Given the description of an element on the screen output the (x, y) to click on. 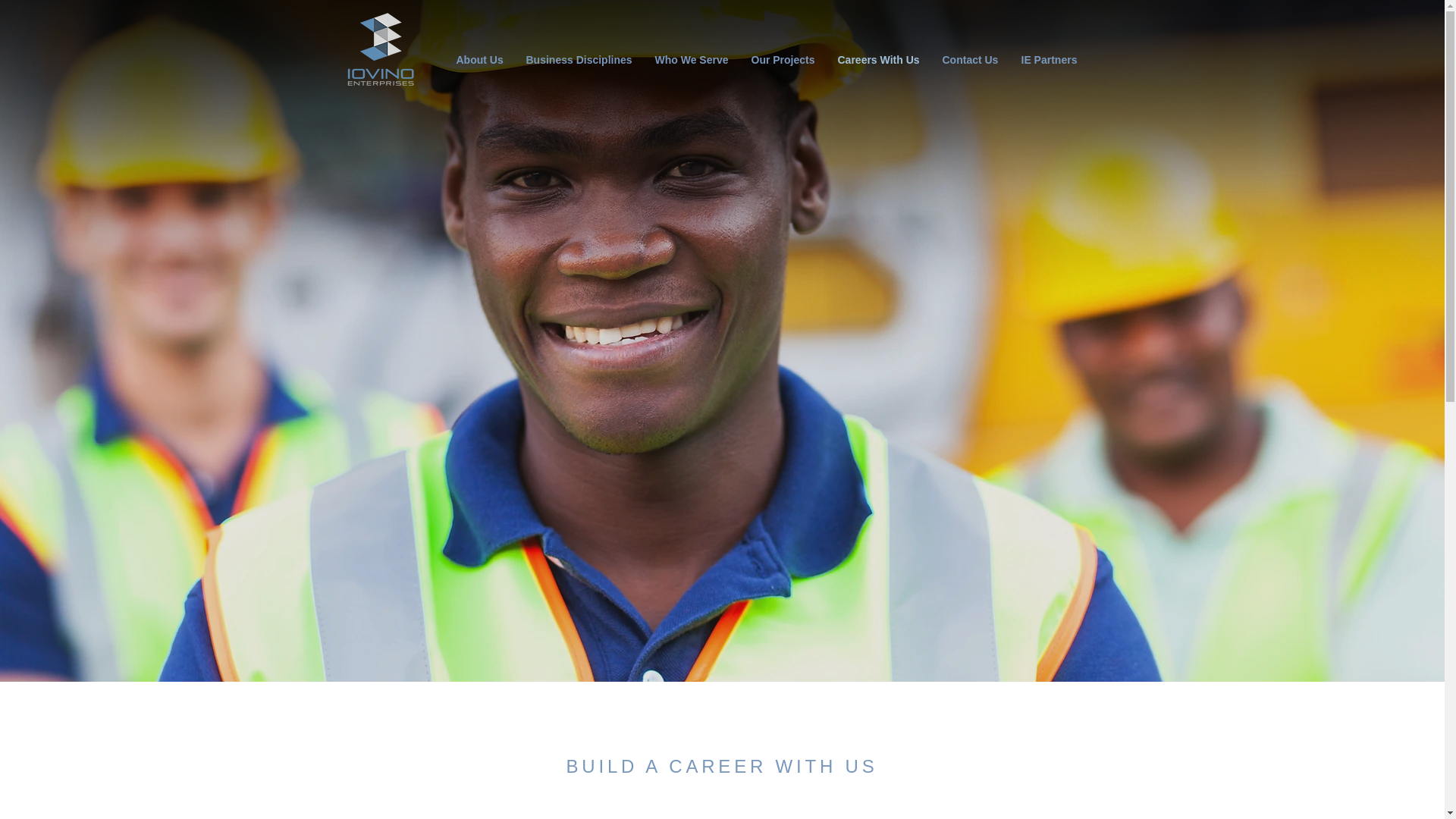
IE Partners (1049, 59)
Contact Us (970, 59)
About Us (478, 59)
Careers With Us (879, 59)
Who We Serve (691, 59)
Our Projects (783, 59)
Business Disciplines (578, 59)
